Given the description of an element on the screen output the (x, y) to click on. 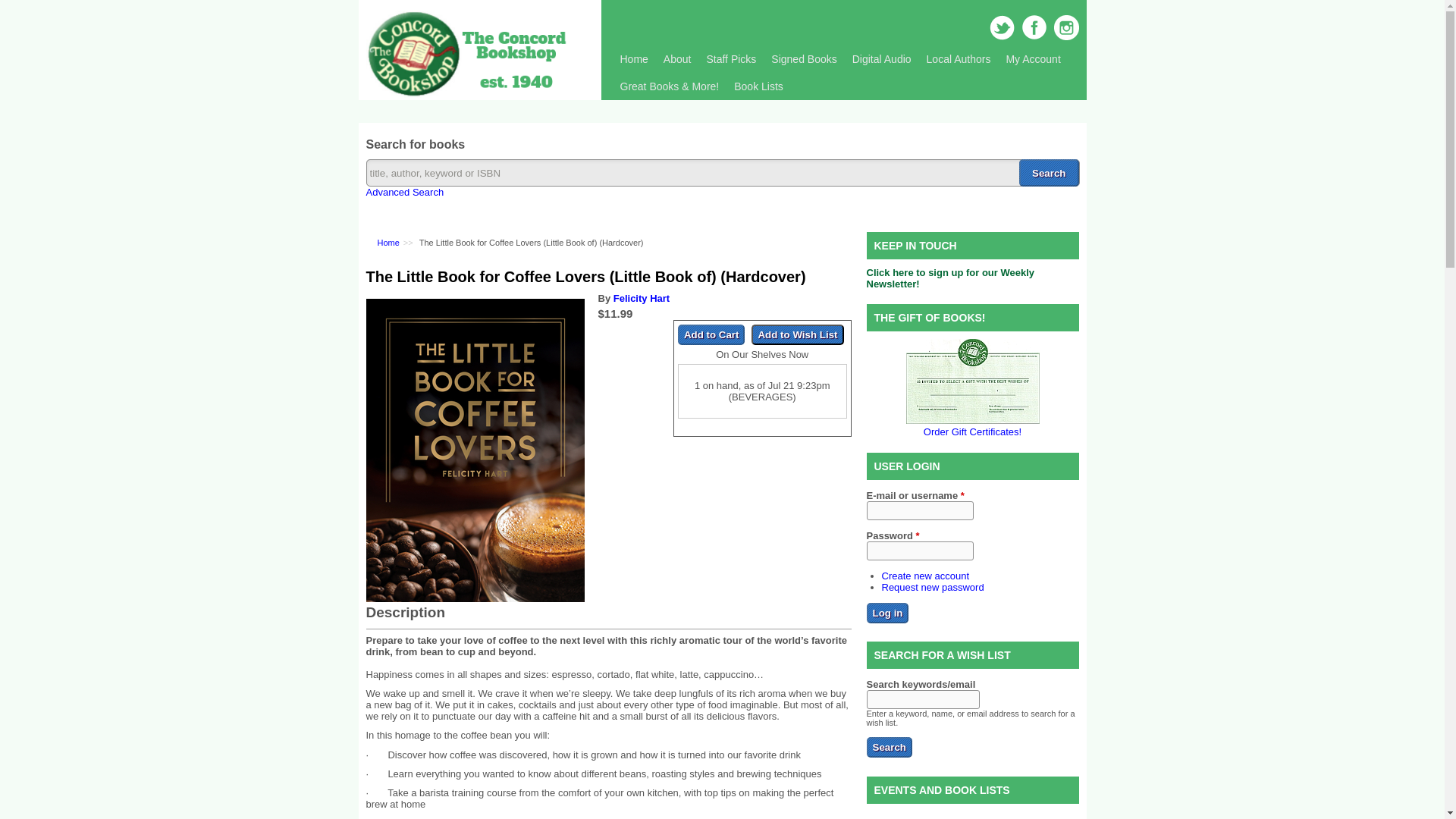
Create a new user account. (924, 575)
Add to Cart (711, 334)
Search (888, 747)
Book Lists (758, 85)
Signed Books (803, 58)
About (677, 58)
Staff Picks (730, 58)
Request new password via e-mail. (932, 586)
Digital Audio (881, 58)
Home (467, 93)
My Account (1032, 58)
Home (634, 58)
Enter the terms you wish to search for. (721, 172)
Search (1048, 172)
